Given the description of an element on the screen output the (x, y) to click on. 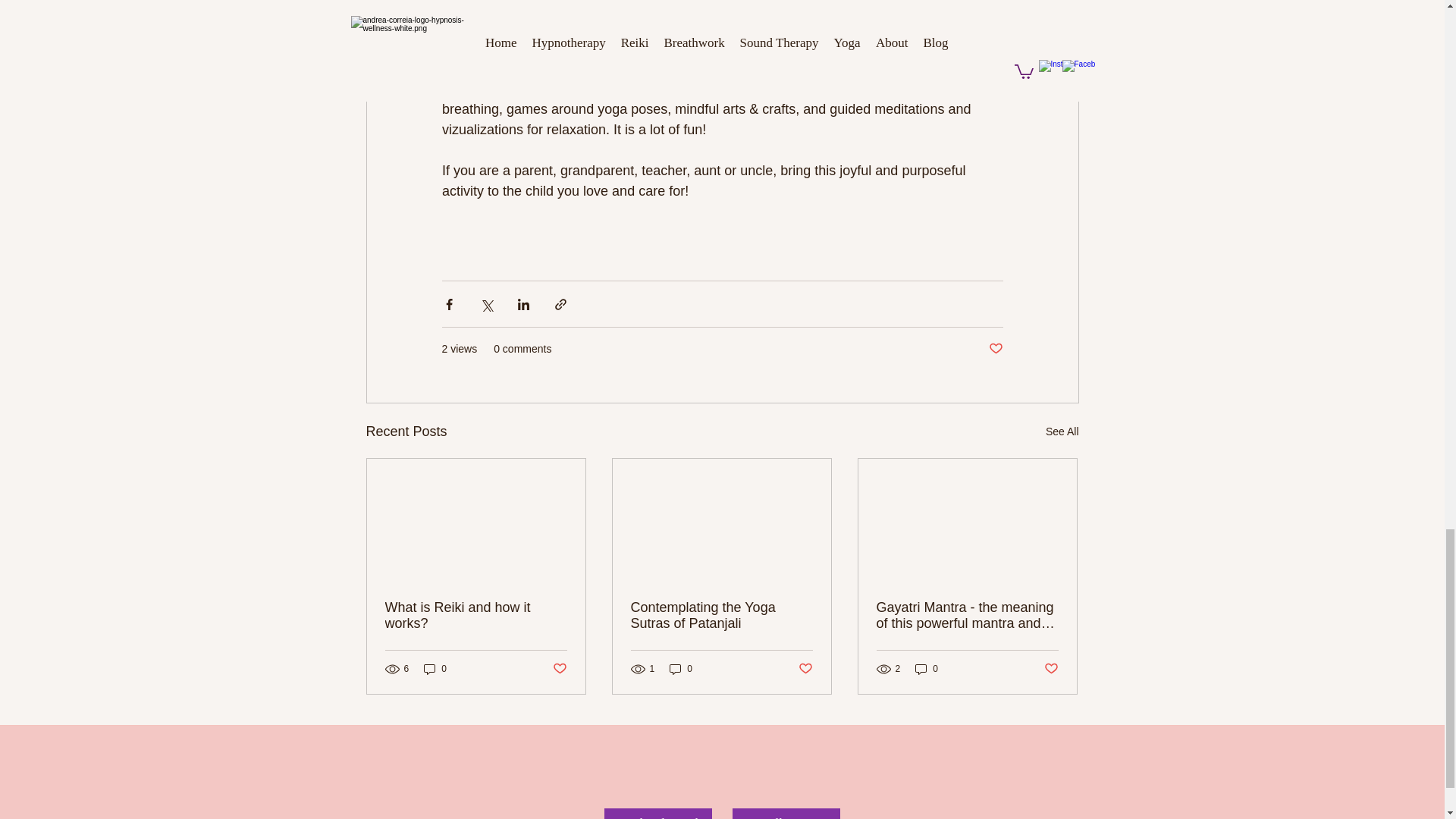
0 (681, 668)
Post not marked as liked (1050, 668)
Post not marked as liked (804, 668)
0 (435, 668)
Call Now (786, 813)
Contemplating the Yoga Sutras of Patanjali (721, 615)
0 (926, 668)
Post not marked as liked (558, 668)
See All (1061, 431)
Send and Email (657, 813)
What is Reiki and how it works? (476, 615)
Post not marked as liked (995, 349)
